Given the description of an element on the screen output the (x, y) to click on. 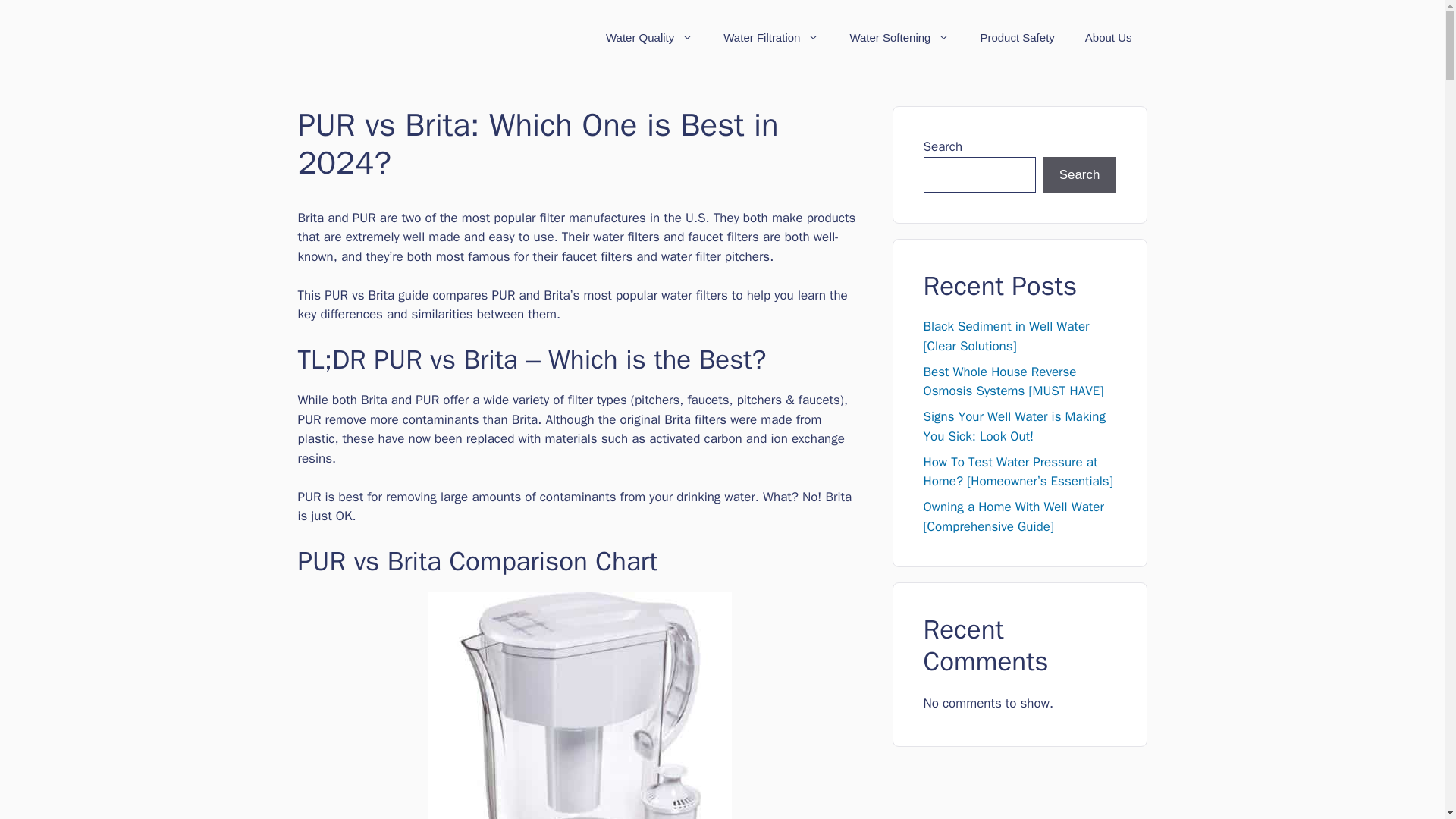
Water Filtration (770, 37)
Search (1079, 174)
Water Softening (898, 37)
Product Safety (1015, 37)
Water Quality (649, 37)
Signs Your Well Water is Making You Sick: Look Out! (1014, 426)
About Us (1108, 37)
